Given the description of an element on the screen output the (x, y) to click on. 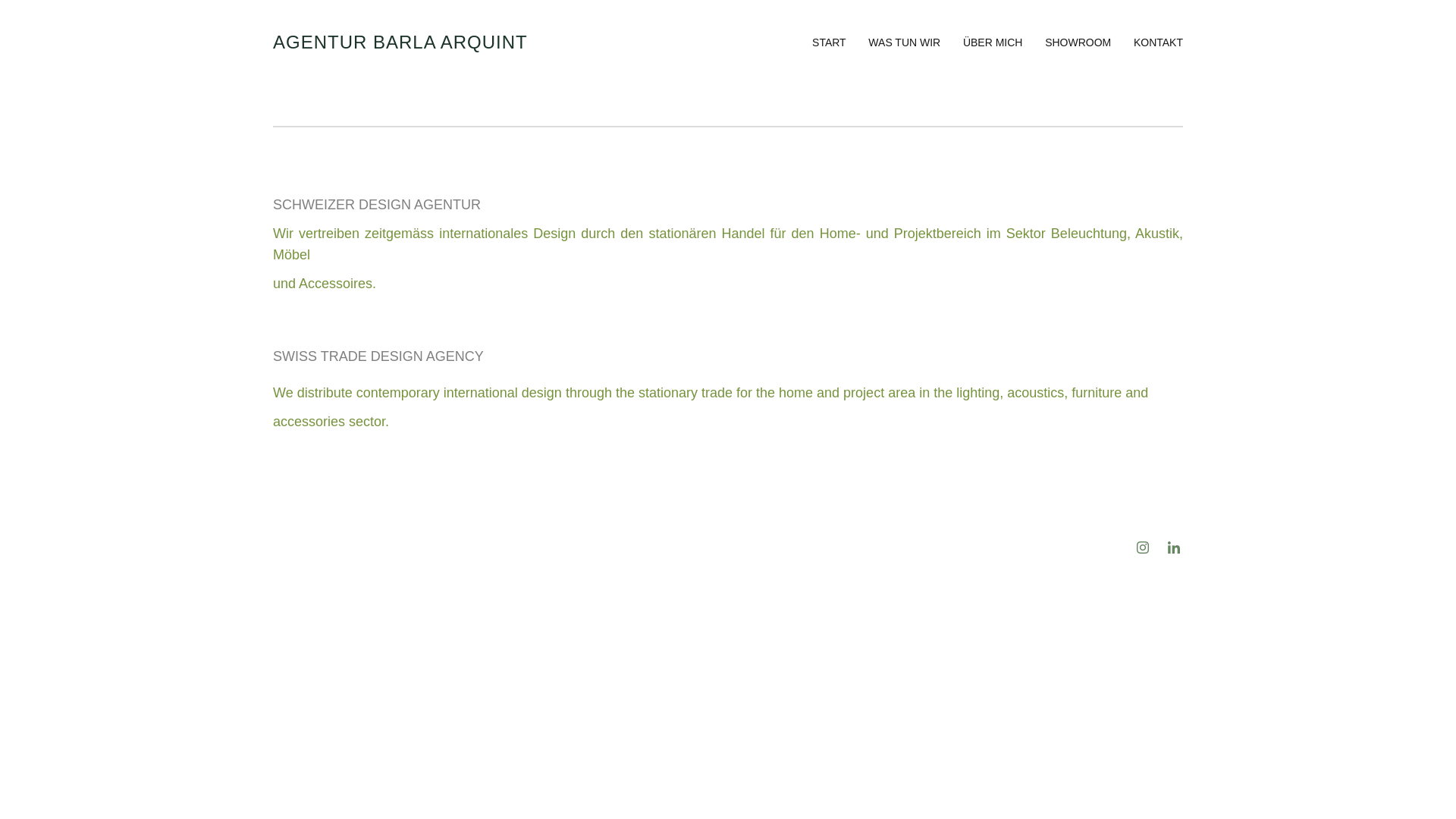
SHOWROOM Element type: text (1077, 42)
START Element type: text (829, 42)
WAS TUN WIR Element type: text (904, 42)
AGENTUR BARLA ARQUINT Element type: text (400, 41)
KONTAKT Element type: text (1158, 42)
